Given the description of an element on the screen output the (x, y) to click on. 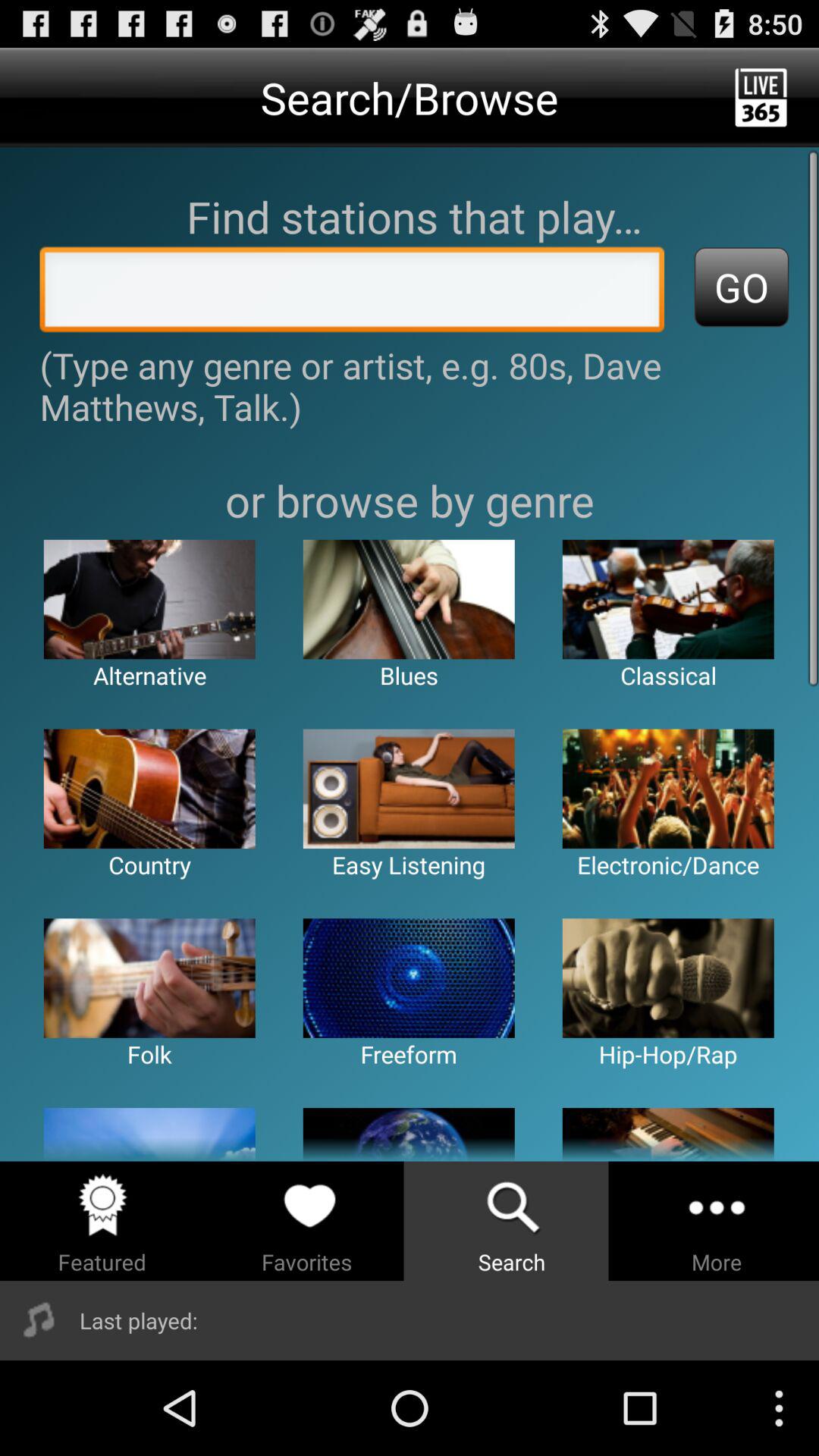
flip until go (741, 287)
